Given the description of an element on the screen output the (x, y) to click on. 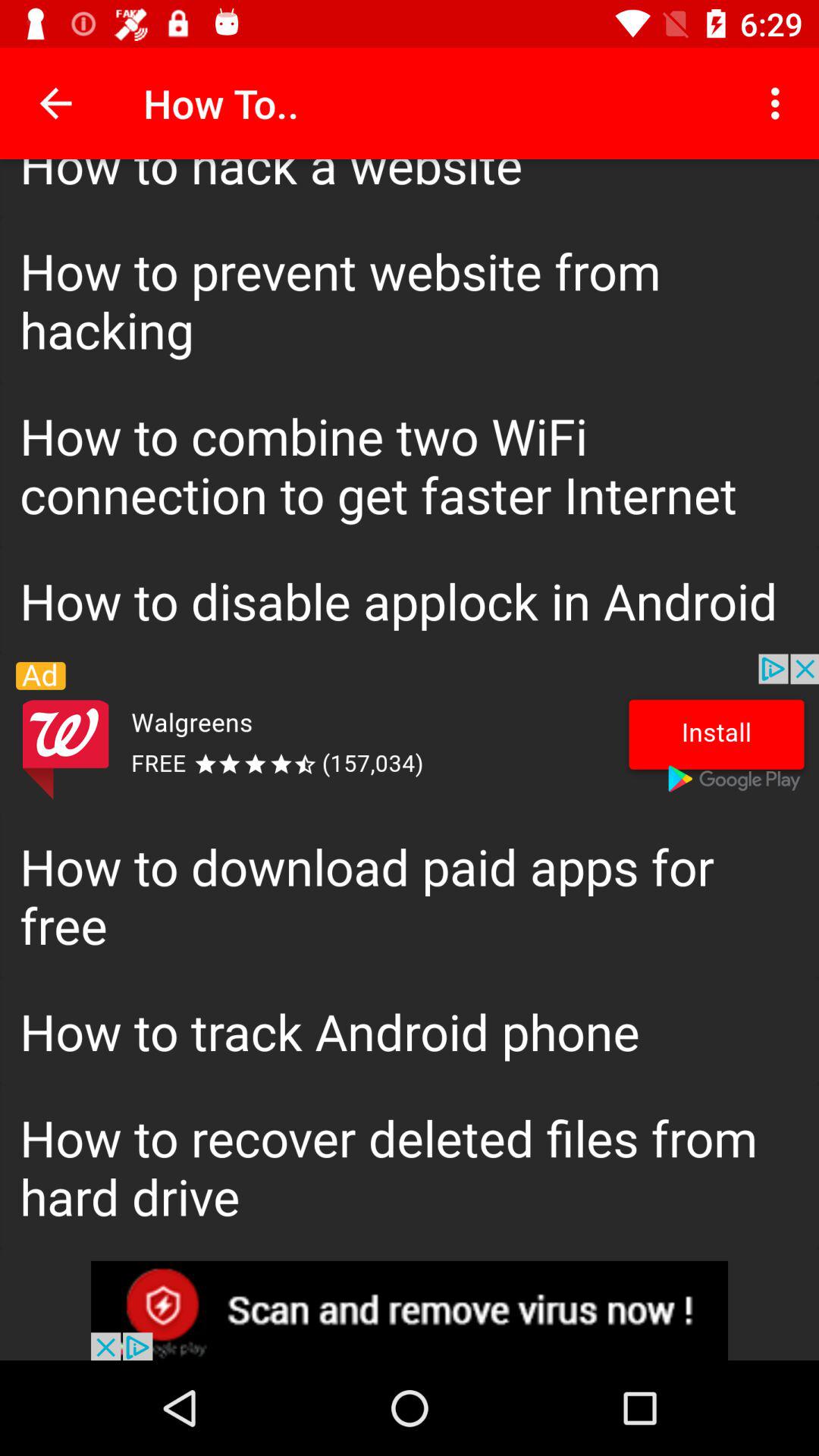
advertising area (409, 1310)
